Given the description of an element on the screen output the (x, y) to click on. 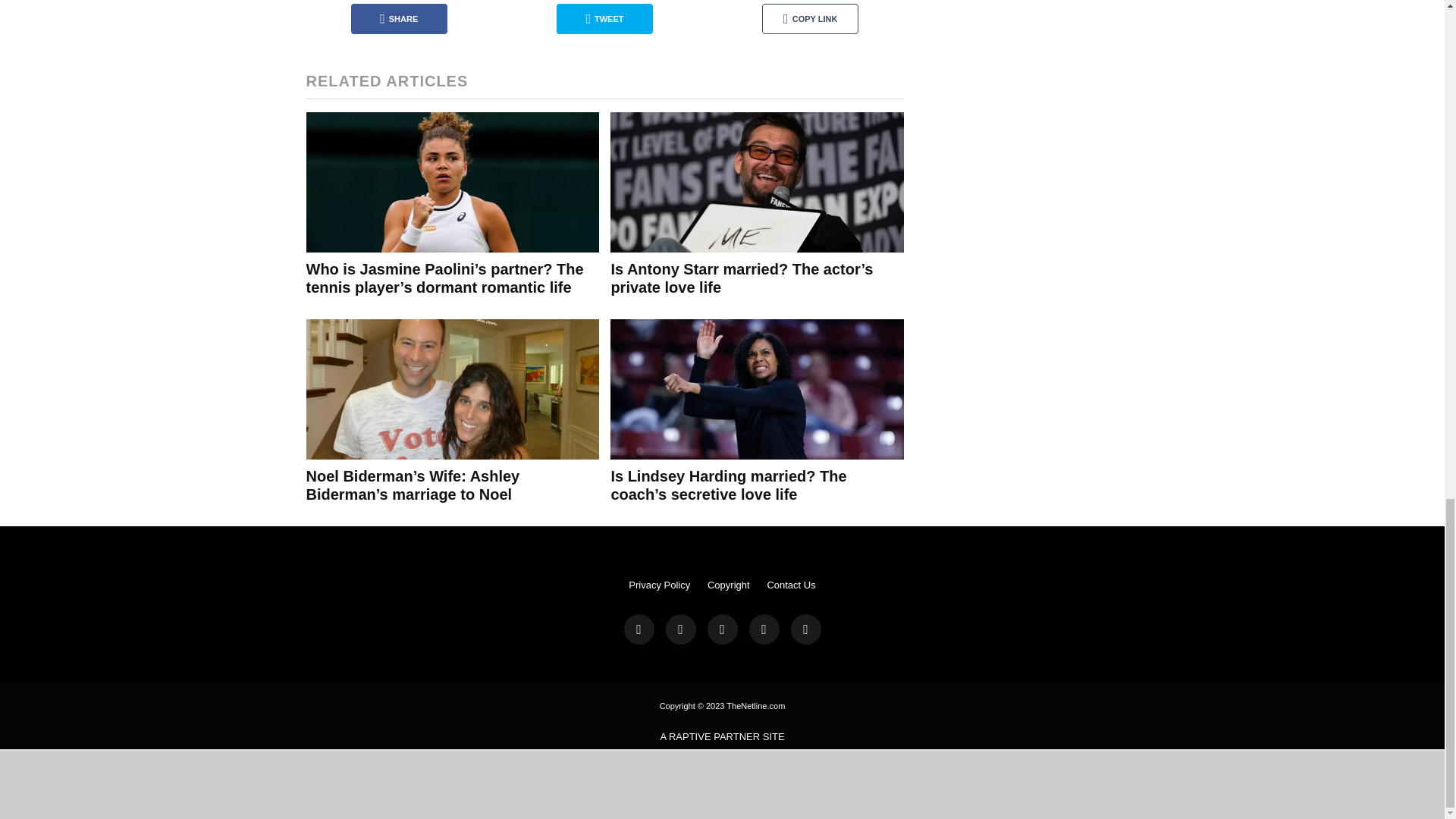
SHARE (398, 19)
Privacy Policy (659, 584)
COPY LINK (810, 19)
TWEET (604, 19)
Contact Us (791, 584)
Copyright (728, 584)
